Given the description of an element on the screen output the (x, y) to click on. 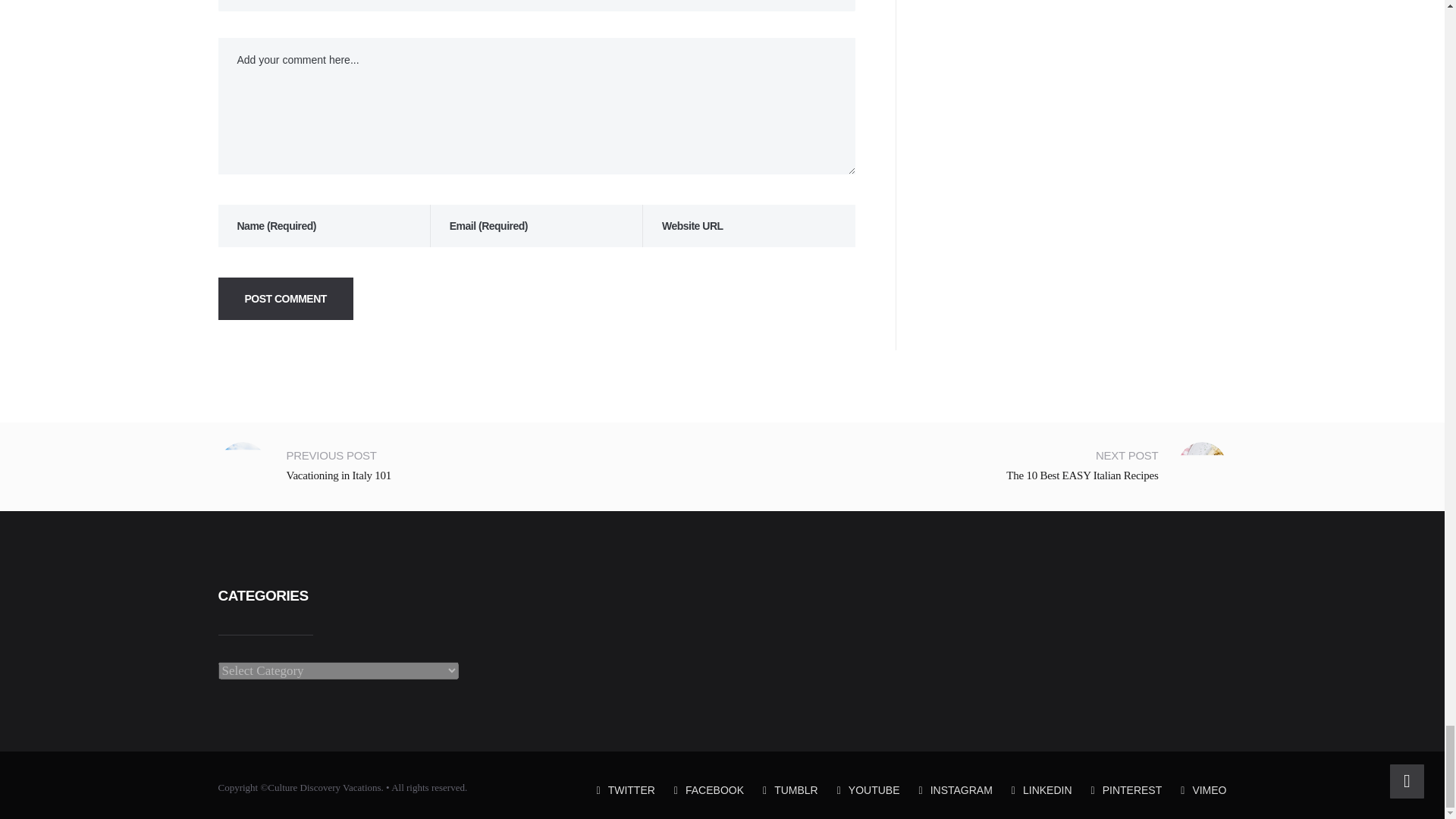
Twitter (625, 789)
Instagram (955, 789)
LinkedIn (1041, 789)
Post Comment (285, 298)
Vimeo (1202, 789)
Tumblr (790, 789)
Facebook (709, 789)
YouTube (868, 789)
Pinterest (1125, 789)
